Given the description of an element on the screen output the (x, y) to click on. 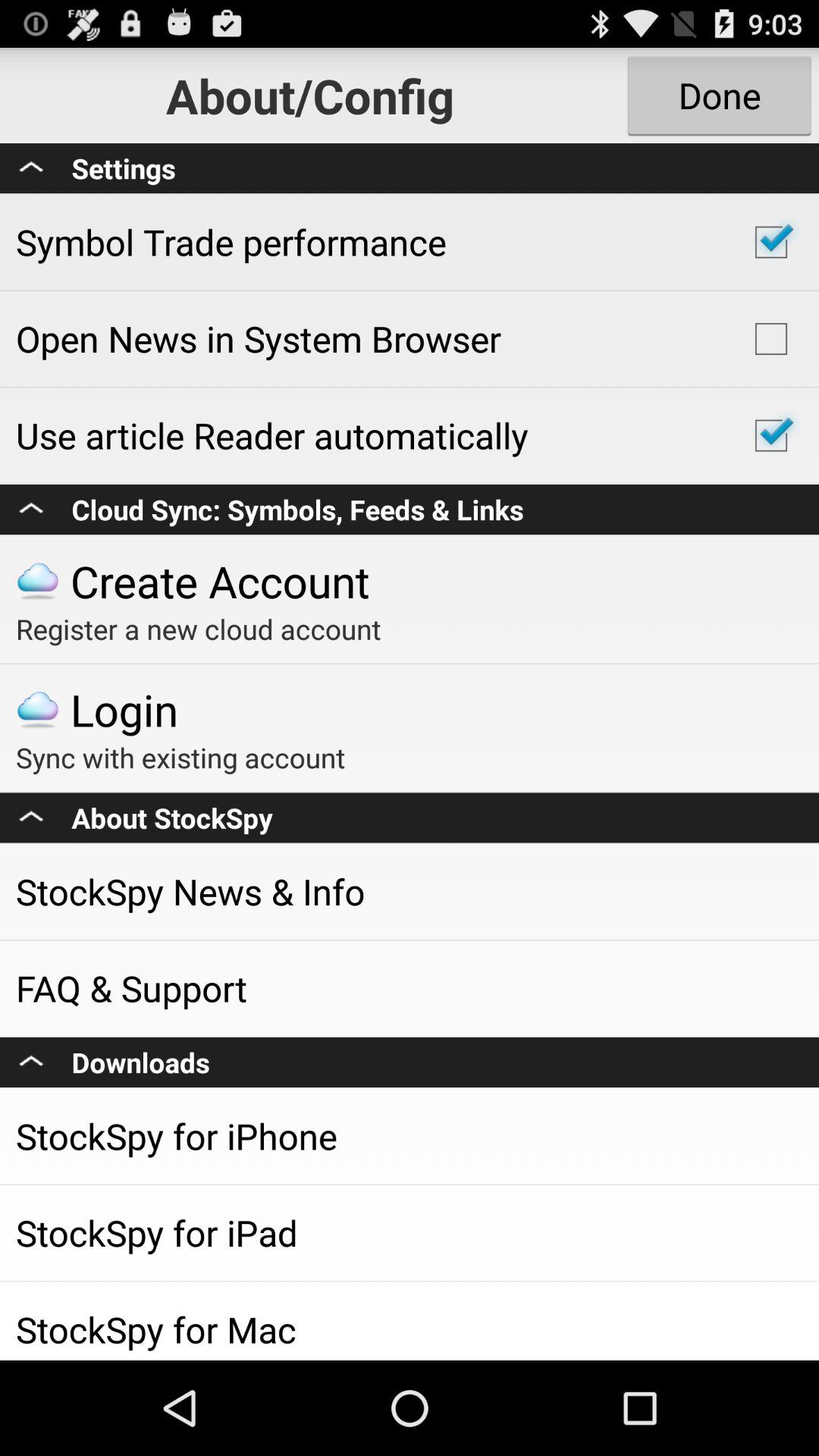
open the done (719, 95)
